Given the description of an element on the screen output the (x, y) to click on. 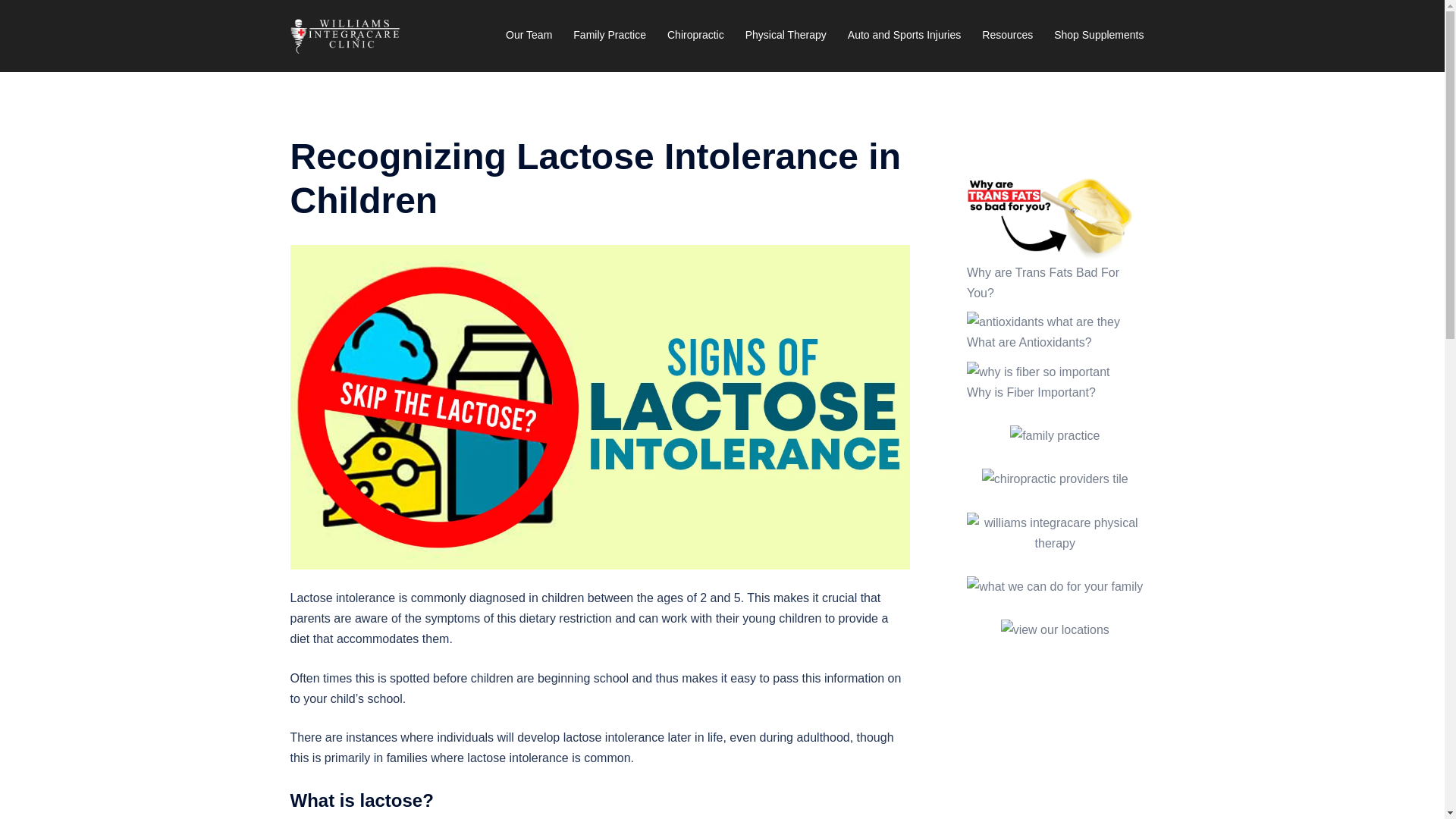
Resources (1006, 35)
Why are Trans Fats Bad For You? (1042, 282)
What are Antioxidants? (1029, 341)
Shop Supplements (1098, 35)
Chiropractic (694, 35)
Physical Therapy (786, 35)
Why is Fiber Important? (1031, 391)
Our Team (528, 35)
Williams Integracare Clinic (344, 34)
Family Practice (609, 35)
